Given the description of an element on the screen output the (x, y) to click on. 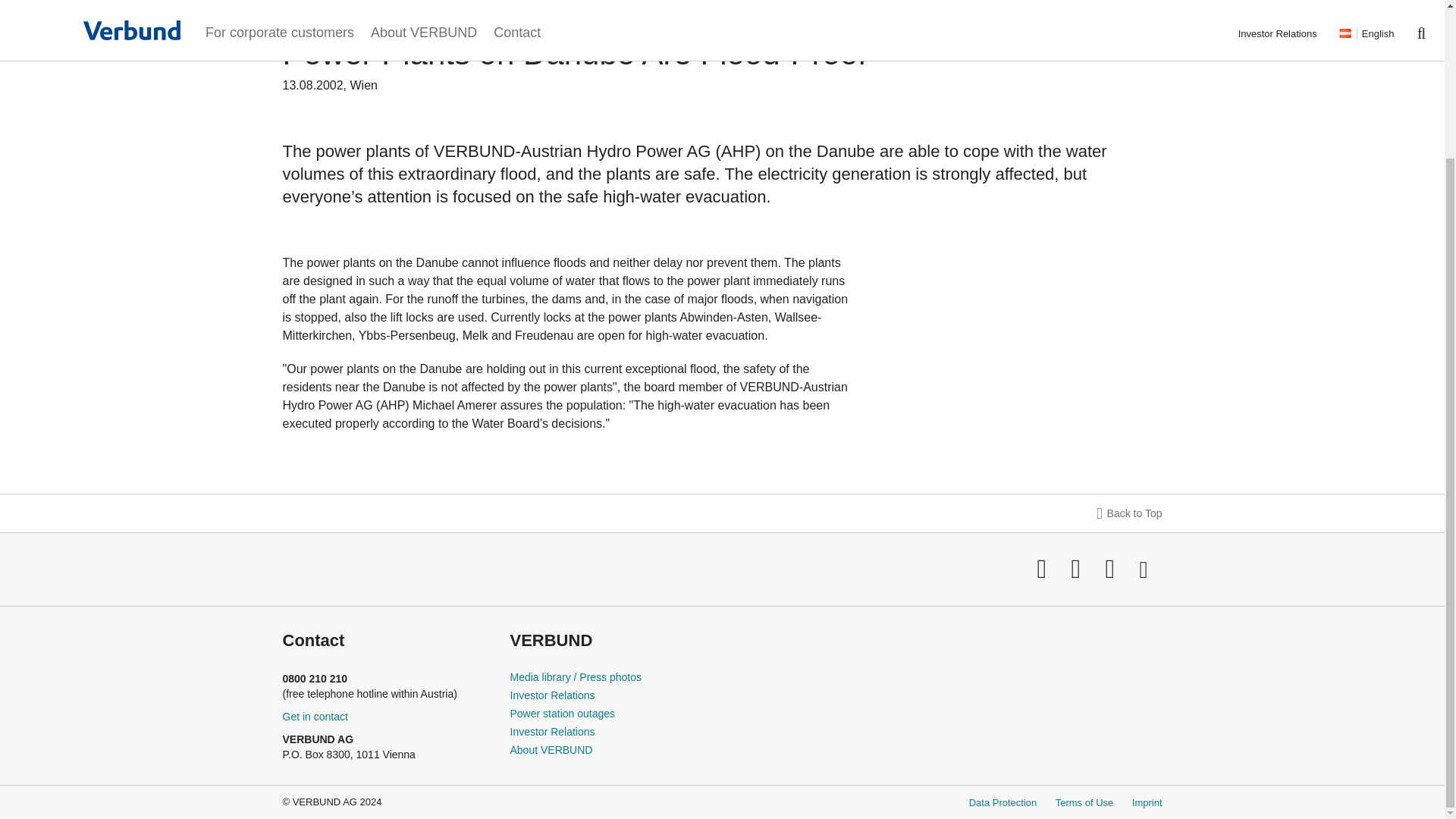
link to imprint (1146, 802)
link to data protection (1002, 802)
Back to Top (721, 513)
Investor Relations (551, 695)
Unplanned power station outages (561, 713)
link to terms of use (1084, 802)
